Given the description of an element on the screen output the (x, y) to click on. 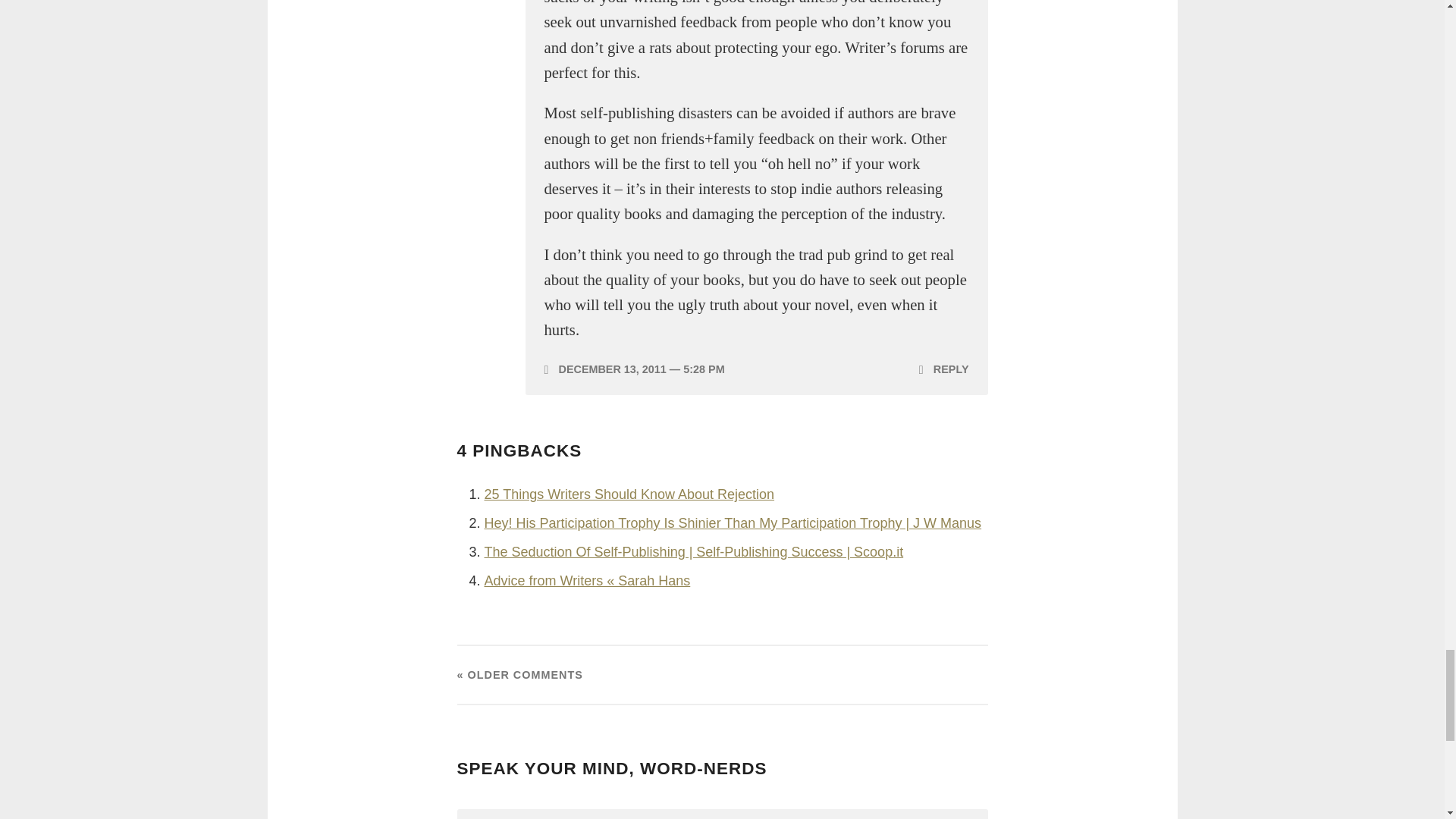
25 Things Writers Should Know About Rejection (628, 494)
REPLY (943, 369)
